Given the description of an element on the screen output the (x, y) to click on. 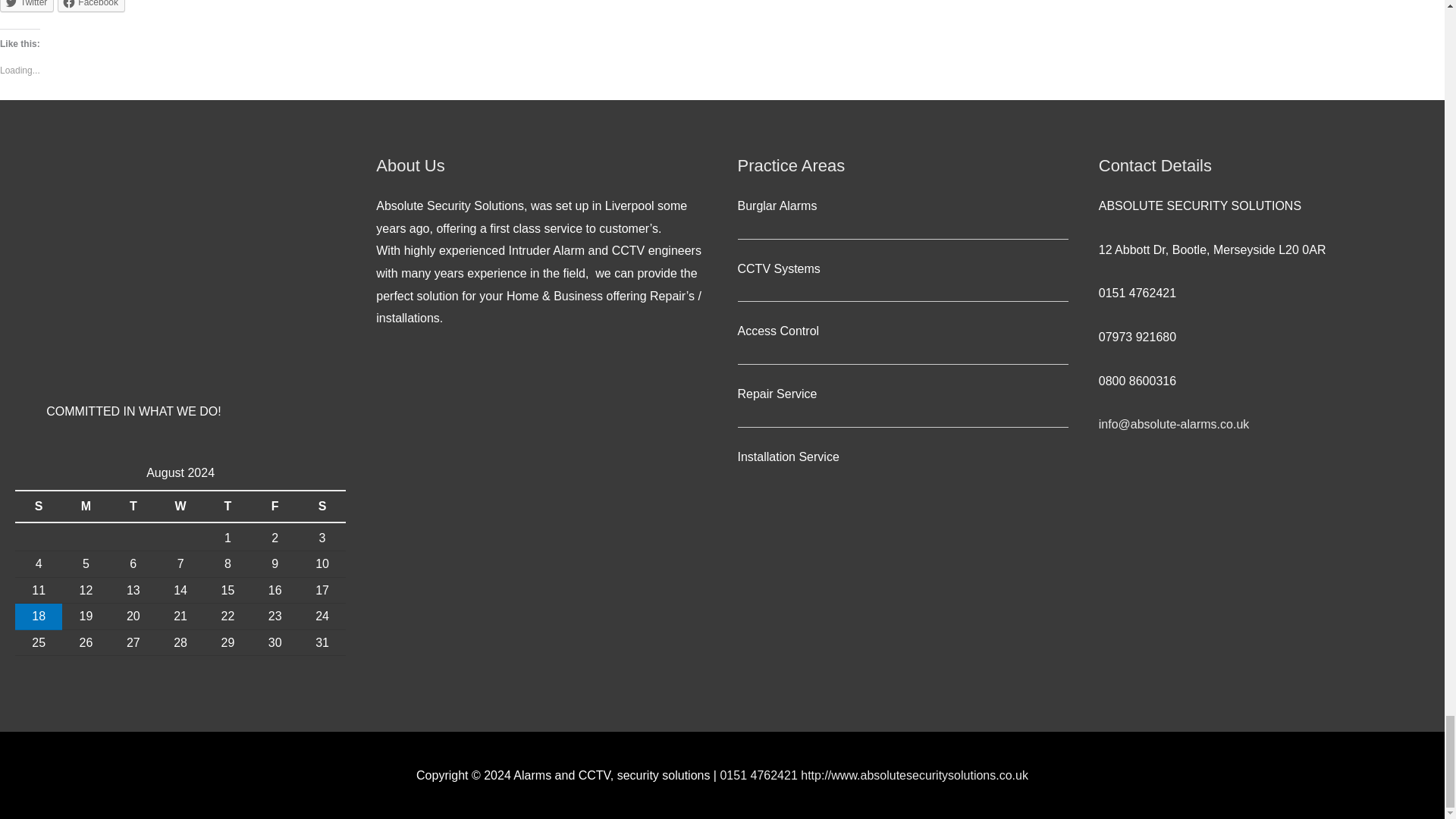
Thursday (226, 506)
Sunday (38, 506)
Click to share on Facebook (91, 6)
Facebook (91, 6)
Friday (274, 506)
Click to share on Twitter (26, 6)
Monday (85, 506)
Twitter (26, 6)
Saturday (322, 506)
Tuesday (133, 506)
